Given the description of an element on the screen output the (x, y) to click on. 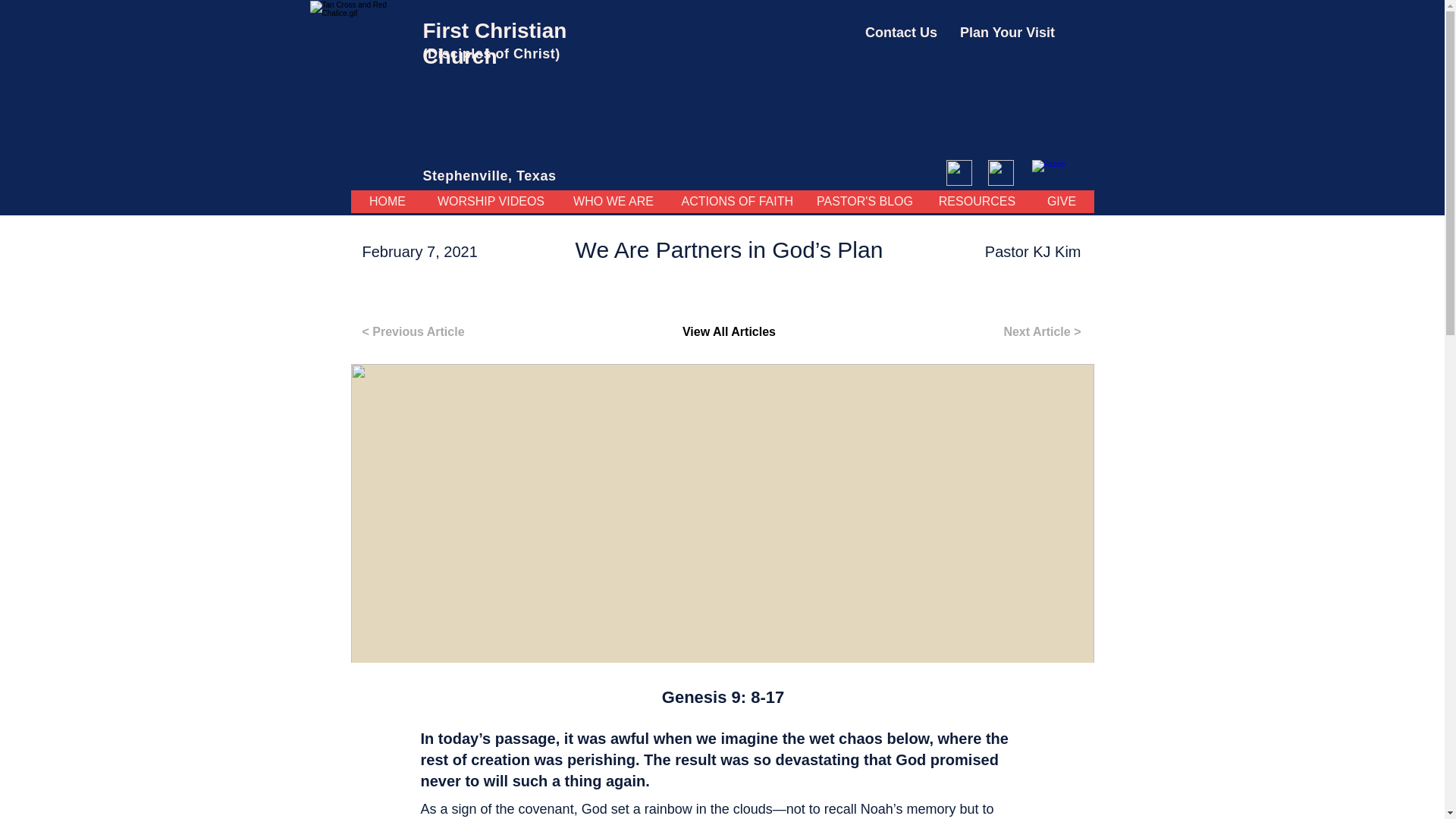
View All Articles (728, 331)
GIVE (1060, 201)
HOME (386, 201)
WORSHIP VIDEOS (491, 201)
Contact Us (901, 33)
Plan Your Visit (1007, 33)
PASTOR'S BLOG (863, 201)
